Given the description of an element on the screen output the (x, y) to click on. 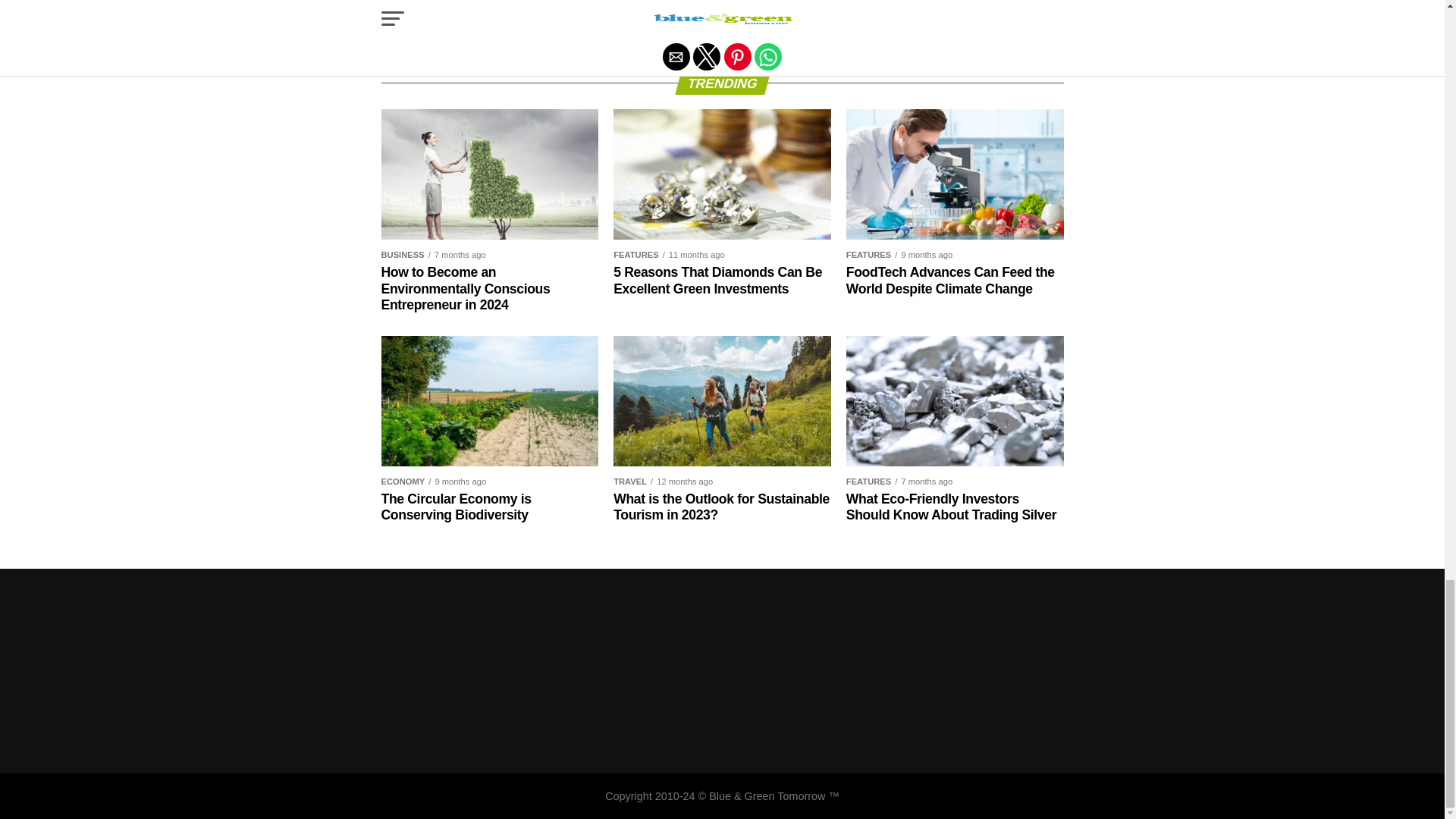
HEDGE FUNDS (665, 5)
ED BALLS (542, 5)
MUTUALS (410, 19)
TREASURY COMMITTEE (854, 19)
RECAPITALISATION (590, 19)
LLOYDS COLLAPSE (1002, 5)
PROJECT VERDE (488, 19)
VINCE CABLE (957, 19)
CUSTOMER OWNERSHIP (445, 5)
JOHN MANN (743, 5)
LIBERAL DEMOCRAT (891, 5)
REVEREND PAUL FLOWERS (717, 19)
LABOUR (807, 5)
ETHICS (597, 5)
